Given the description of an element on the screen output the (x, y) to click on. 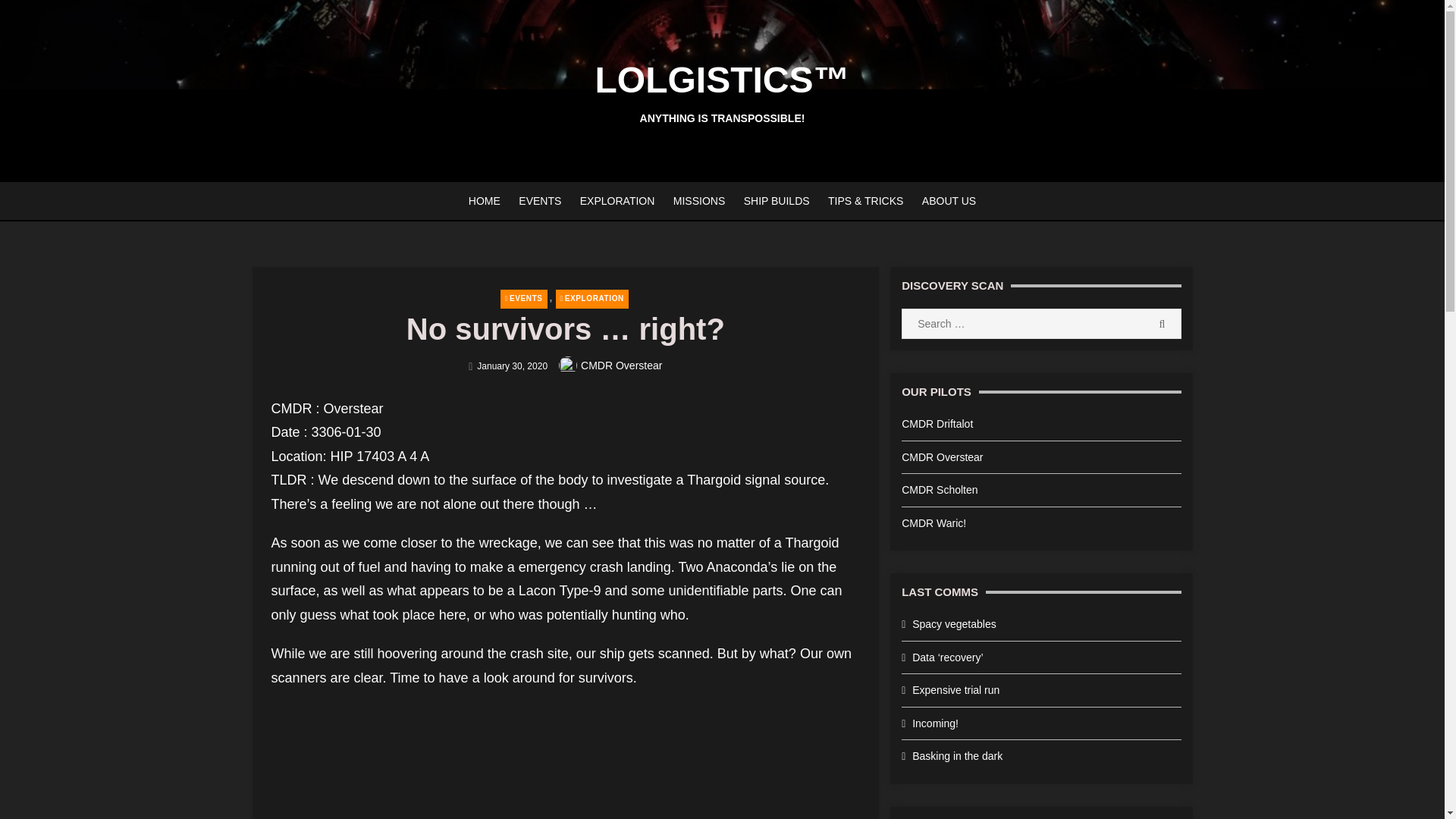
EXPLORATION (617, 200)
Basking in the dark (957, 756)
CMDR Scholten (938, 490)
Spacy vegetables (953, 623)
ABOUT US (949, 200)
Expensive trial run (955, 689)
SEARCH (1161, 323)
EXPLORATION (592, 298)
MISSIONS (698, 200)
HOME (484, 200)
